Given the description of an element on the screen output the (x, y) to click on. 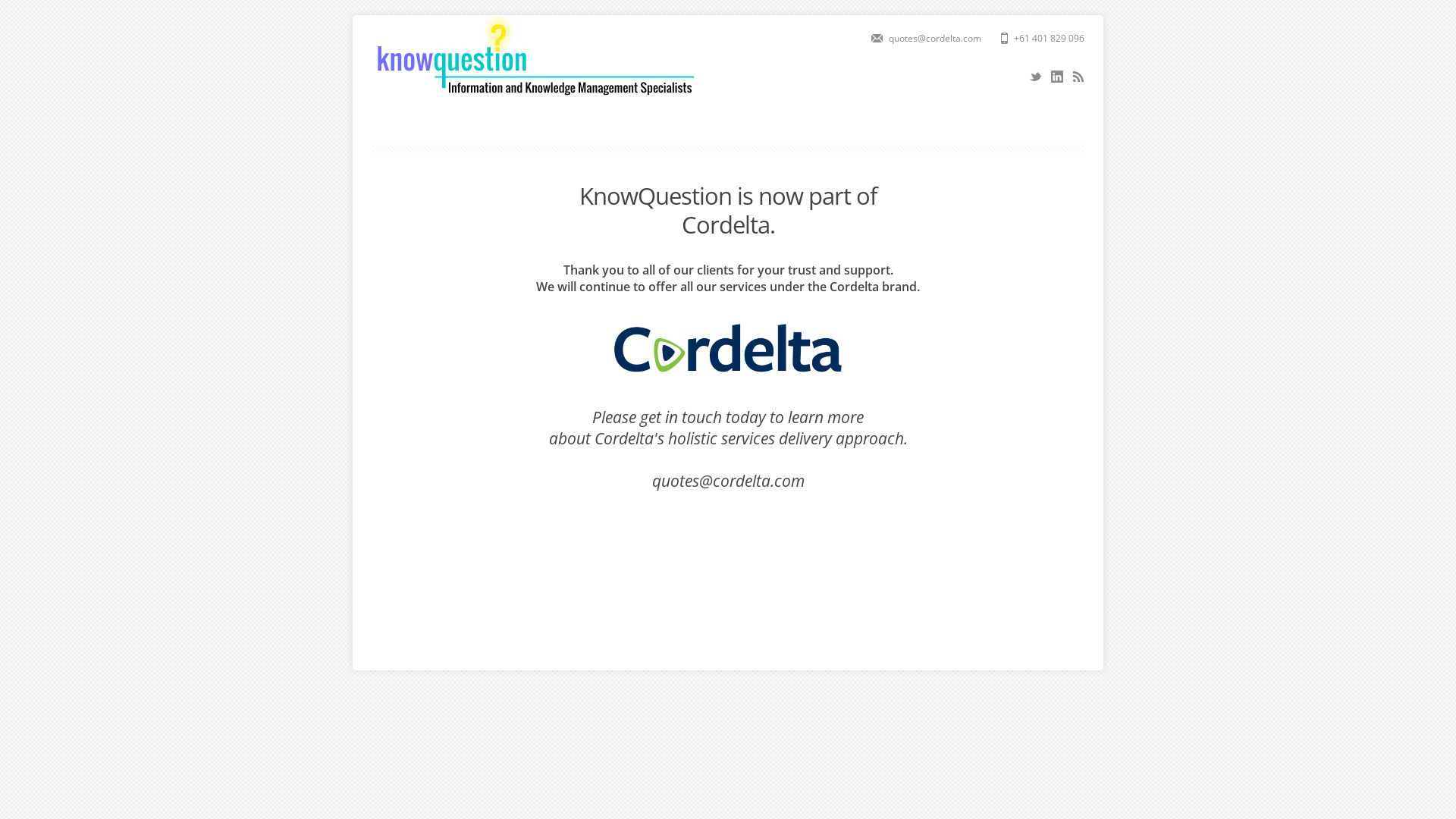
Cordelta Element type: text (724, 224)
linkedin Element type: text (1057, 76)
twitter Element type: text (1035, 76)
quotes@cordelta.com Element type: text (728, 480)
. Element type: text (771, 224)
rss Element type: text (1078, 76)
KnowQuestion Element type: hover (532, 98)
